Given the description of an element on the screen output the (x, y) to click on. 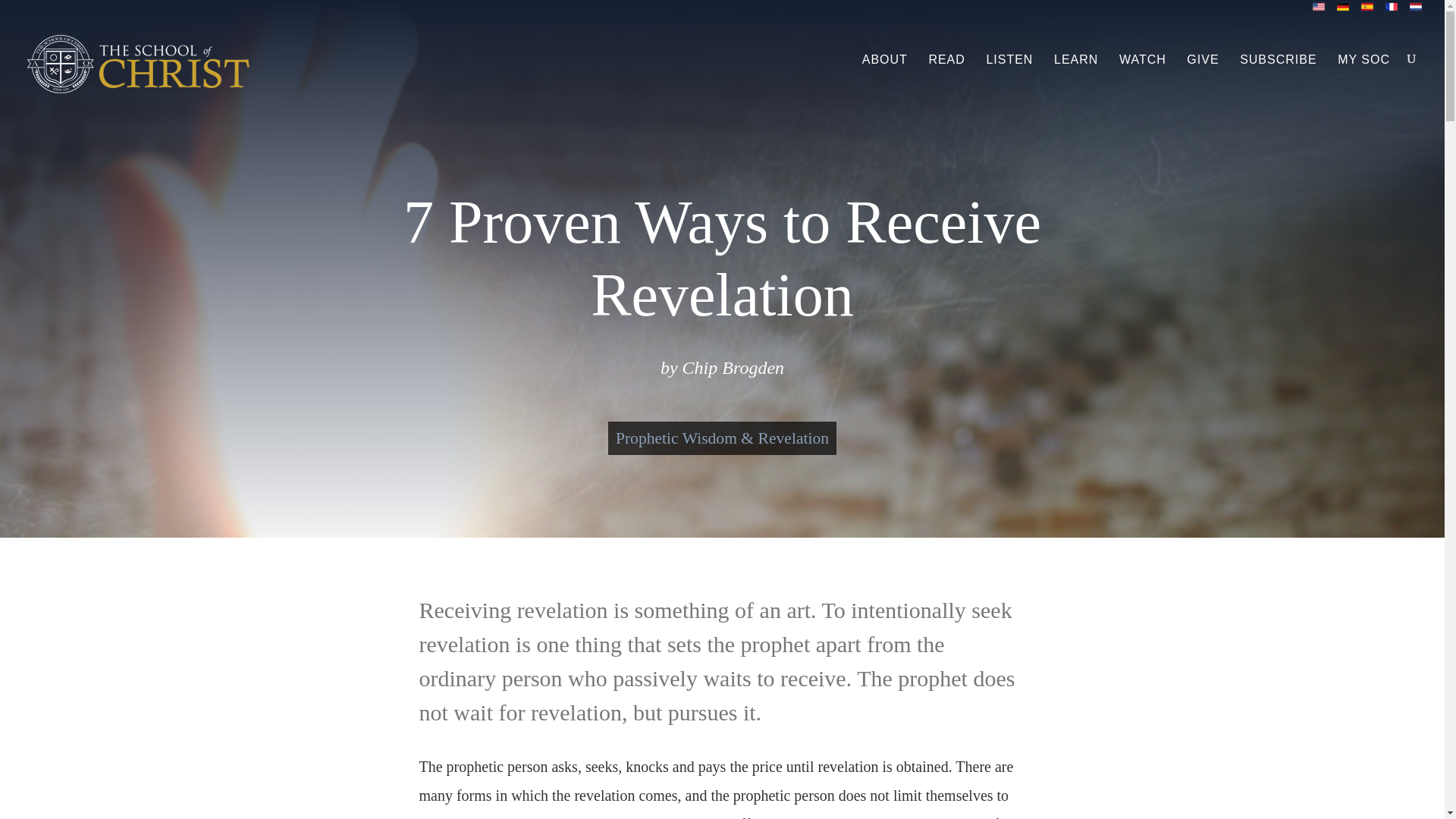
MY SOC (1364, 72)
SUBSCRIBE (1278, 72)
ABOUT (884, 72)
READ (945, 72)
WATCH (1142, 72)
LISTEN (1008, 72)
LEARN (1075, 72)
GIVE (1202, 72)
